Given the description of an element on the screen output the (x, y) to click on. 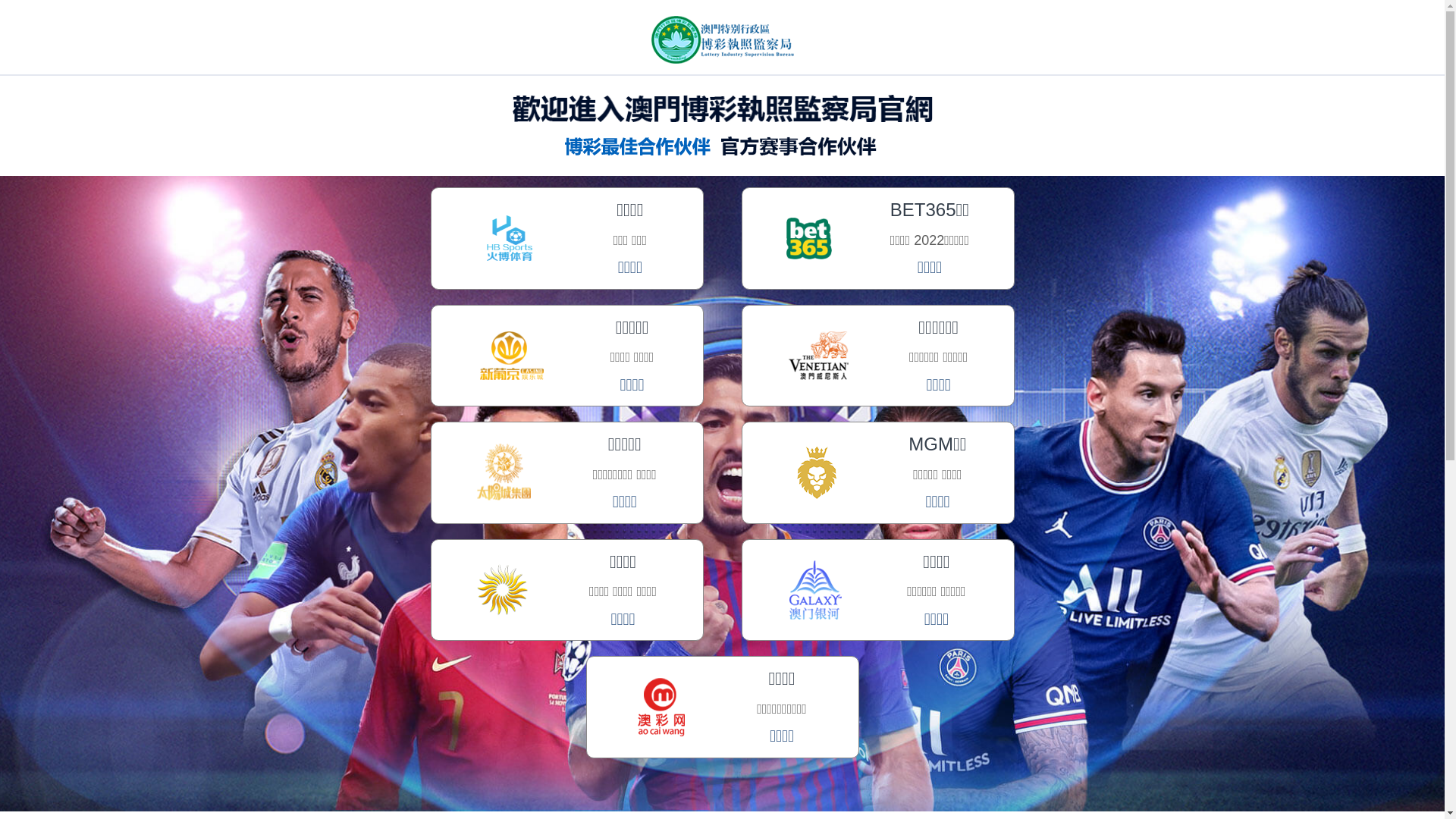
Search Element type: text (28, 136)
